Given the description of an element on the screen output the (x, y) to click on. 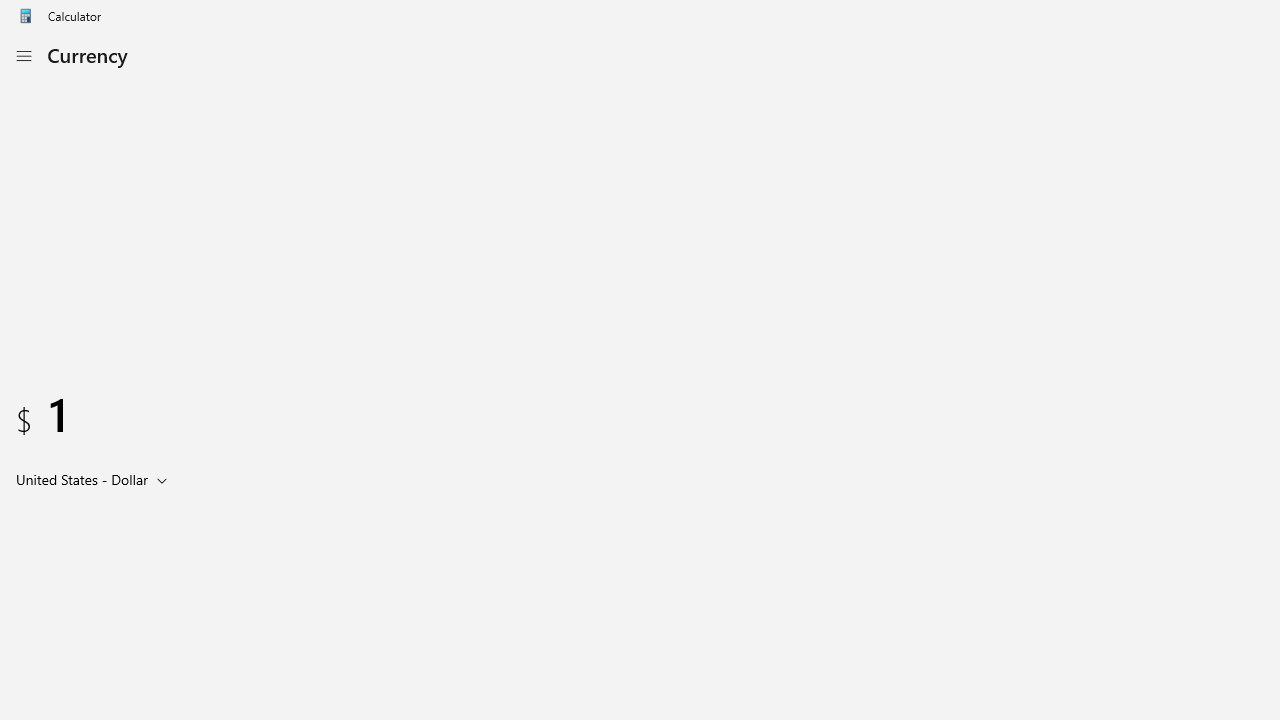
Input unit (95, 479)
United States Dollar (79, 479)
Open Navigation (23, 56)
